Given the description of an element on the screen output the (x, y) to click on. 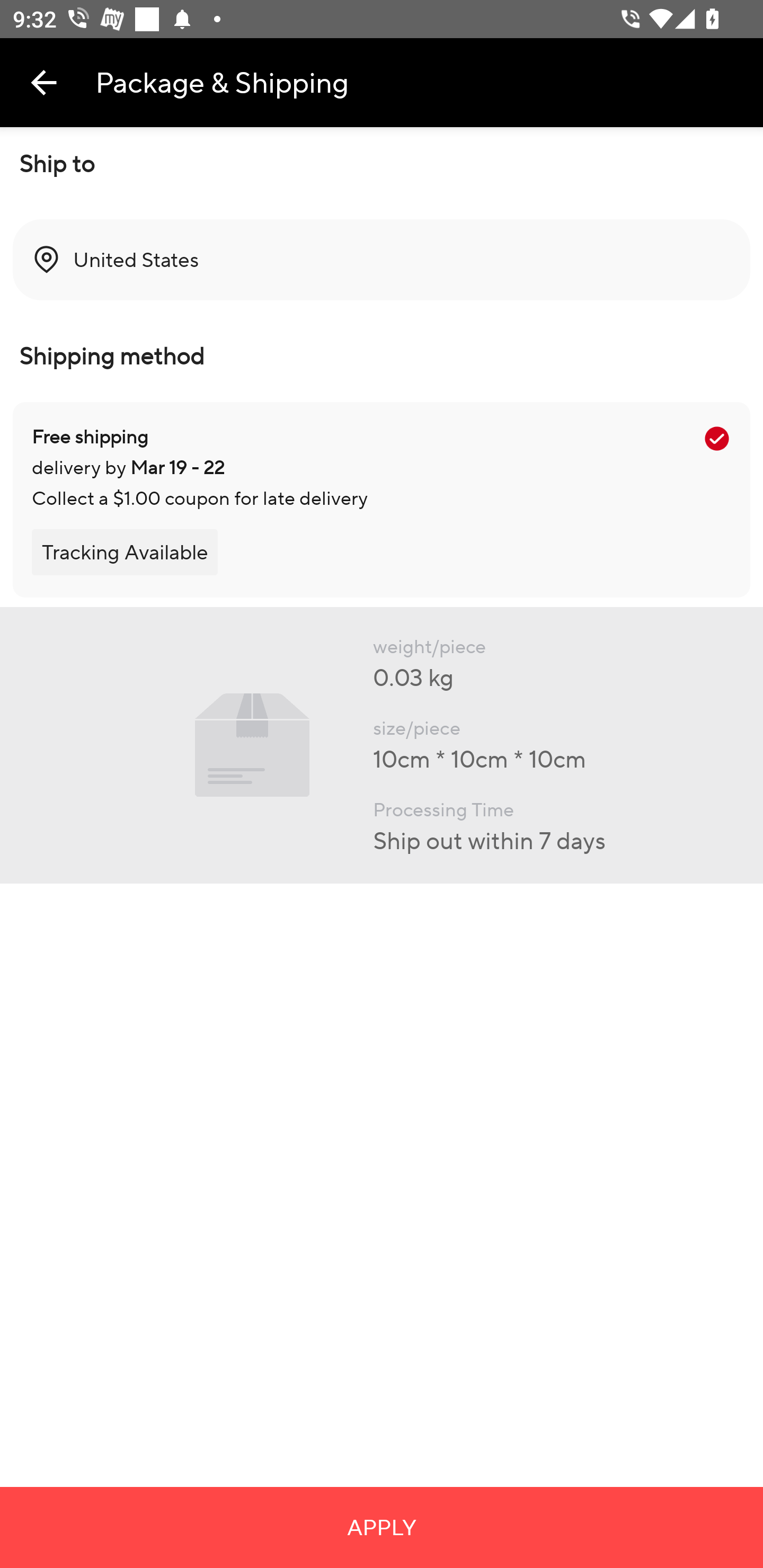
 United States (381, 260)
APPLY (381, 1527)
